Given the description of an element on the screen output the (x, y) to click on. 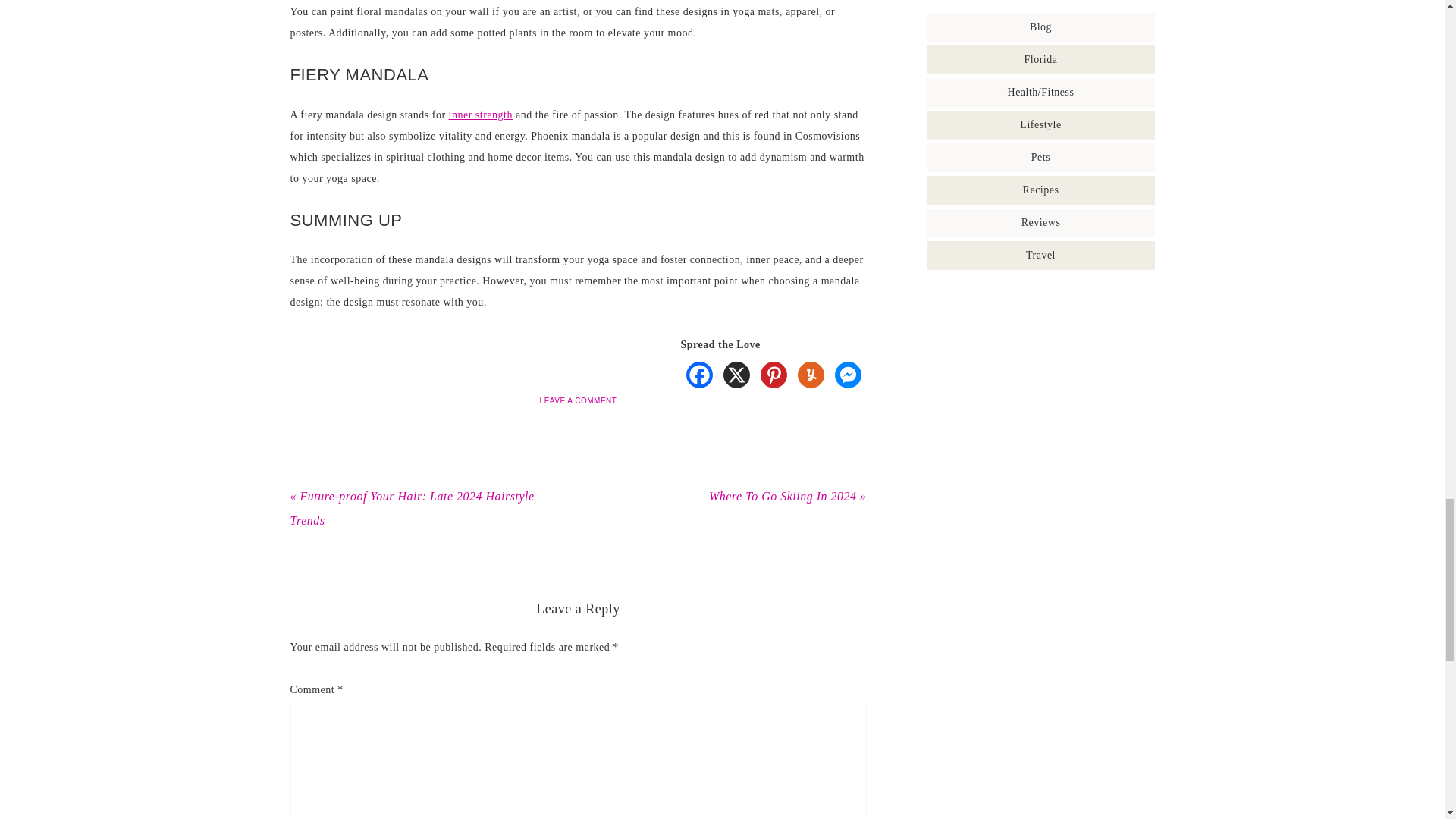
Pinterest (773, 374)
Facebook (699, 374)
Yummly (810, 374)
X (735, 374)
